Given the description of an element on the screen output the (x, y) to click on. 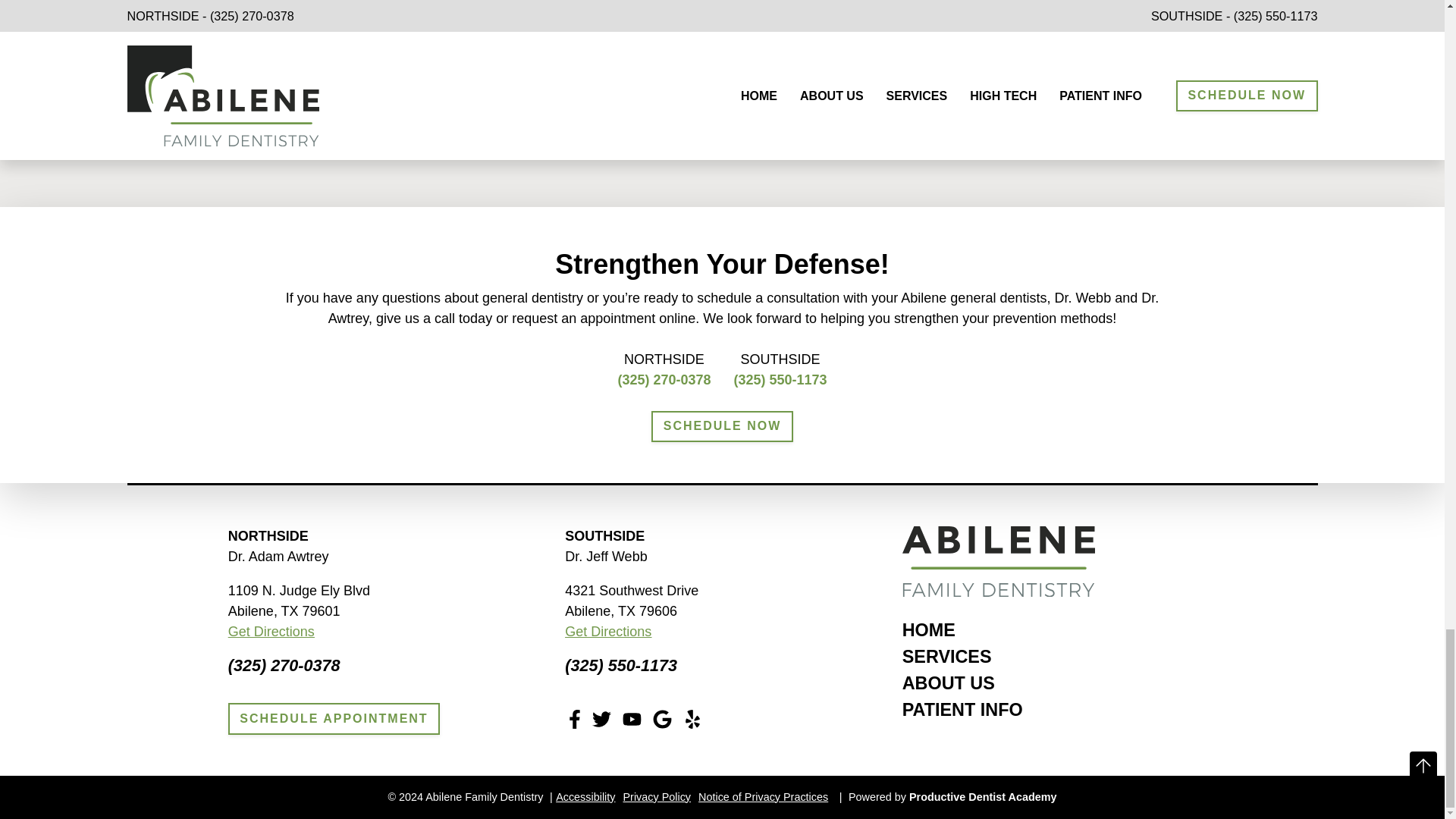
Watch Videos from Abilene Family Dentistry on YouTube (632, 718)
Become a Fan of Abilene Family Dentistry on Facebook (574, 718)
Read Reviews of Abilene Family Dentistry on Yelp (691, 718)
Connect with Abilene Family Dentistry on Google Maps (661, 718)
Follow Abilene Family Dentistry on Twitter (601, 718)
